Given the description of an element on the screen output the (x, y) to click on. 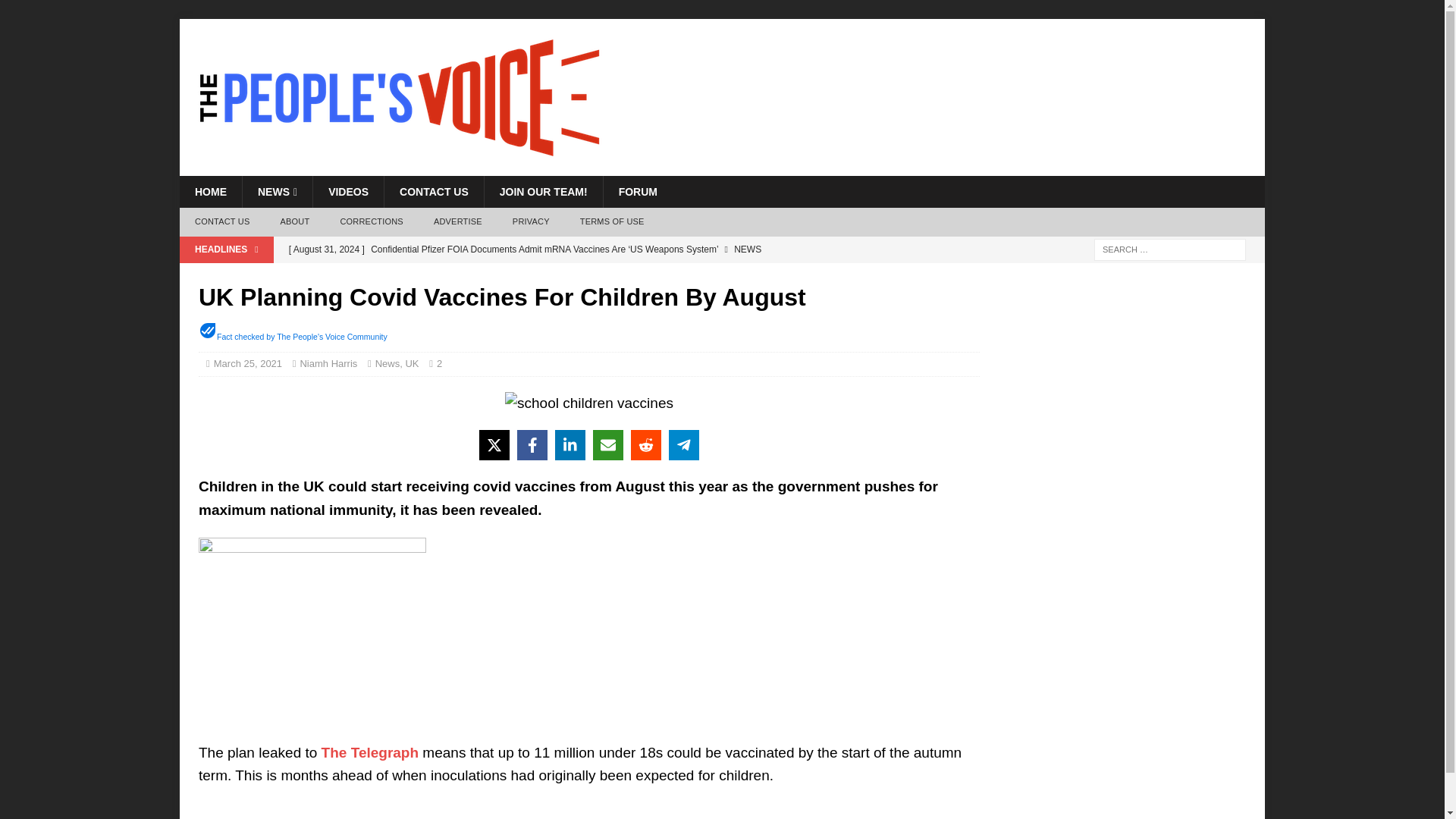
Niamh Harris (327, 363)
News (387, 363)
FORUM (637, 192)
Fact checked by The People's Voice Community (301, 336)
PRIVACY (530, 222)
2 (442, 363)
ADVERTISE (458, 222)
TERMS OF USE (611, 222)
NEWS (277, 192)
children vaccines (588, 403)
